Given the description of an element on the screen output the (x, y) to click on. 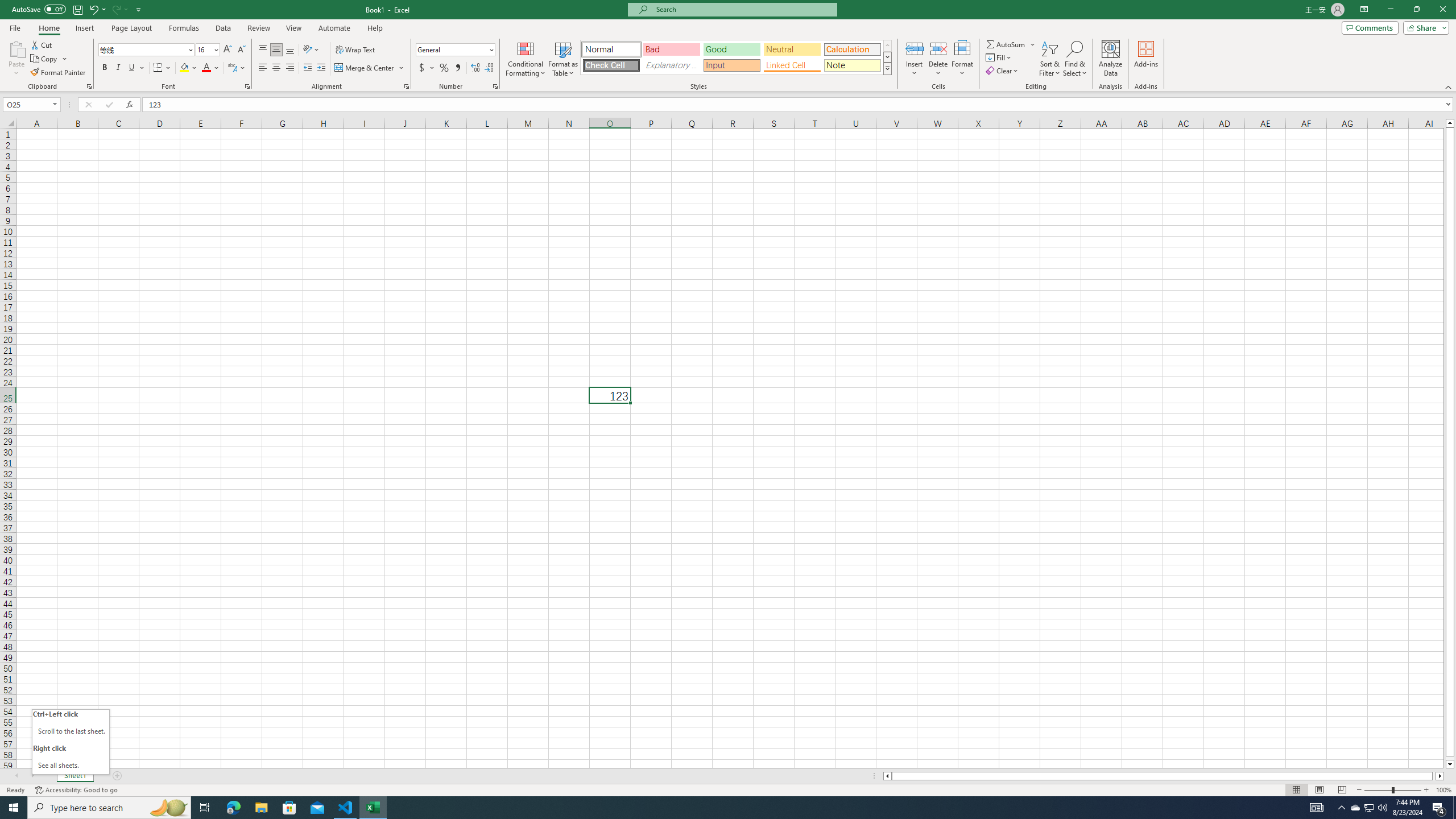
Linked Cell (791, 65)
Paste (16, 58)
Clear (1003, 69)
AutoSum (1011, 44)
Row Down (887, 56)
Accounting Number Format (426, 67)
Format Cell Alignment (405, 85)
Calculation (852, 49)
Row up (887, 45)
Cut (42, 44)
Sort & Filter (1049, 58)
Center (276, 67)
Insert Cells (914, 48)
